Given the description of an element on the screen output the (x, y) to click on. 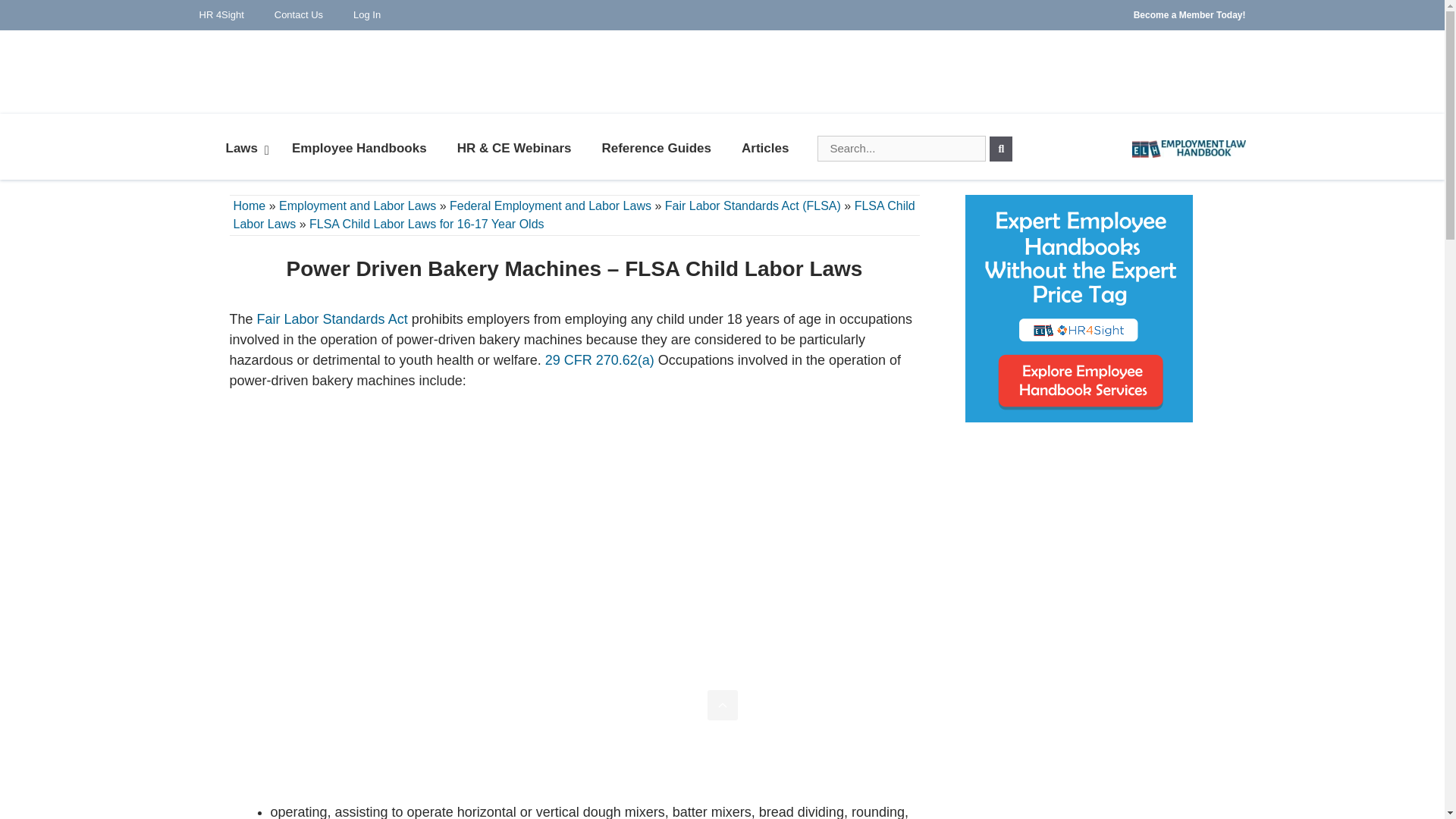
FLSA Child Labor Laws for 16-17 Year Olds (426, 223)
HR 4Sight (221, 15)
Home (249, 205)
Reference Guides (656, 148)
Become a Member Today! (1189, 14)
Scroll back to top (721, 705)
Laws (244, 148)
Contact Us (298, 15)
Employment and Labor Laws (357, 205)
ELH and HR 4Sight Employee Handbook Services (1077, 308)
Articles (764, 148)
Employee Handbooks (359, 148)
FLSA Child Labor Laws (573, 214)
Log In (366, 15)
Search (1000, 148)
